Given the description of an element on the screen output the (x, y) to click on. 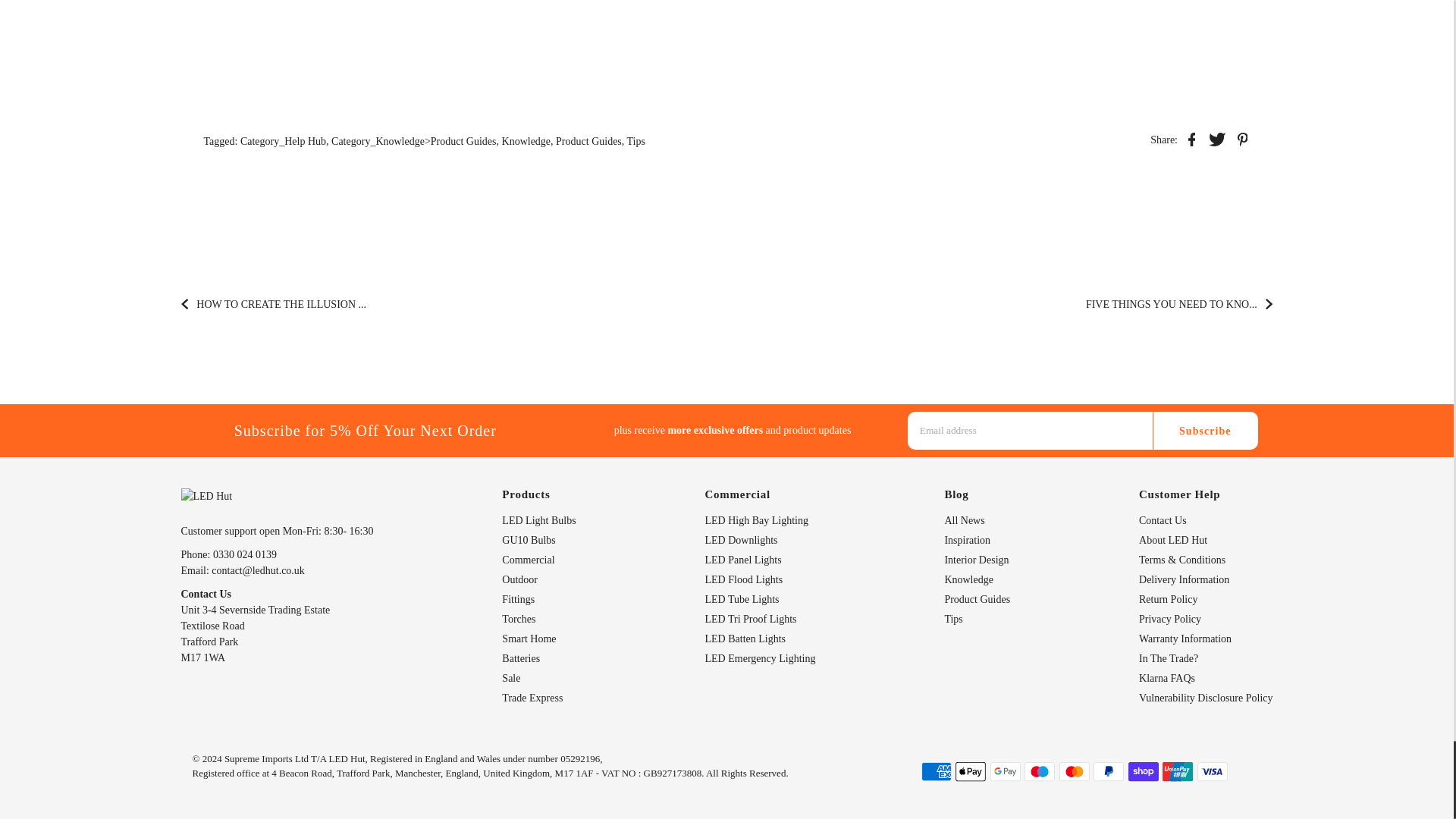
American Express (935, 771)
Maestro (1039, 771)
Google Pay (1005, 771)
Share on Facebook (1190, 138)
Share on Pinterest (1242, 138)
Apple Pay (970, 771)
Share on Twitter (1216, 138)
